Given the description of an element on the screen output the (x, y) to click on. 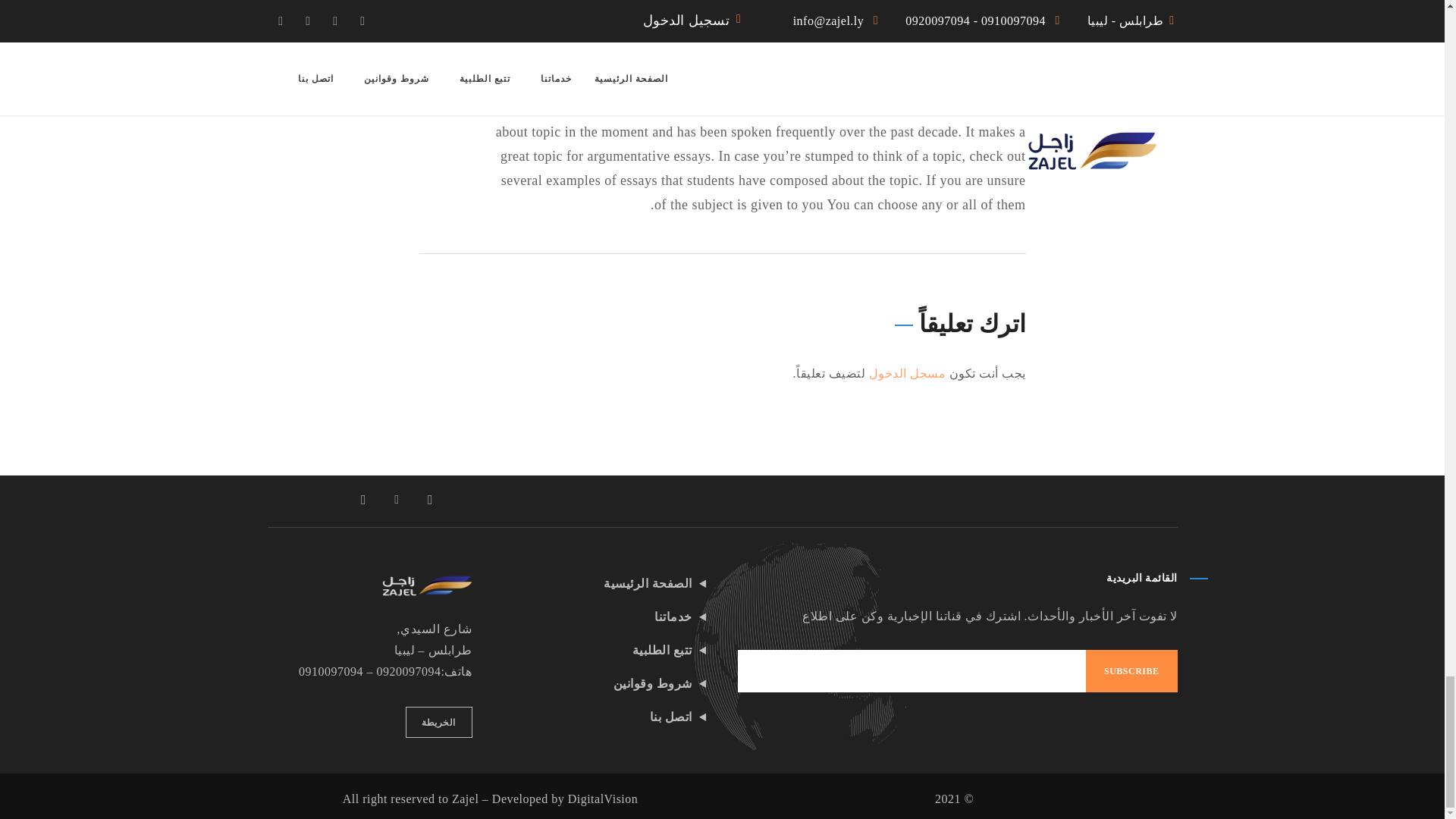
Subscribe (1131, 671)
